Given the description of an element on the screen output the (x, y) to click on. 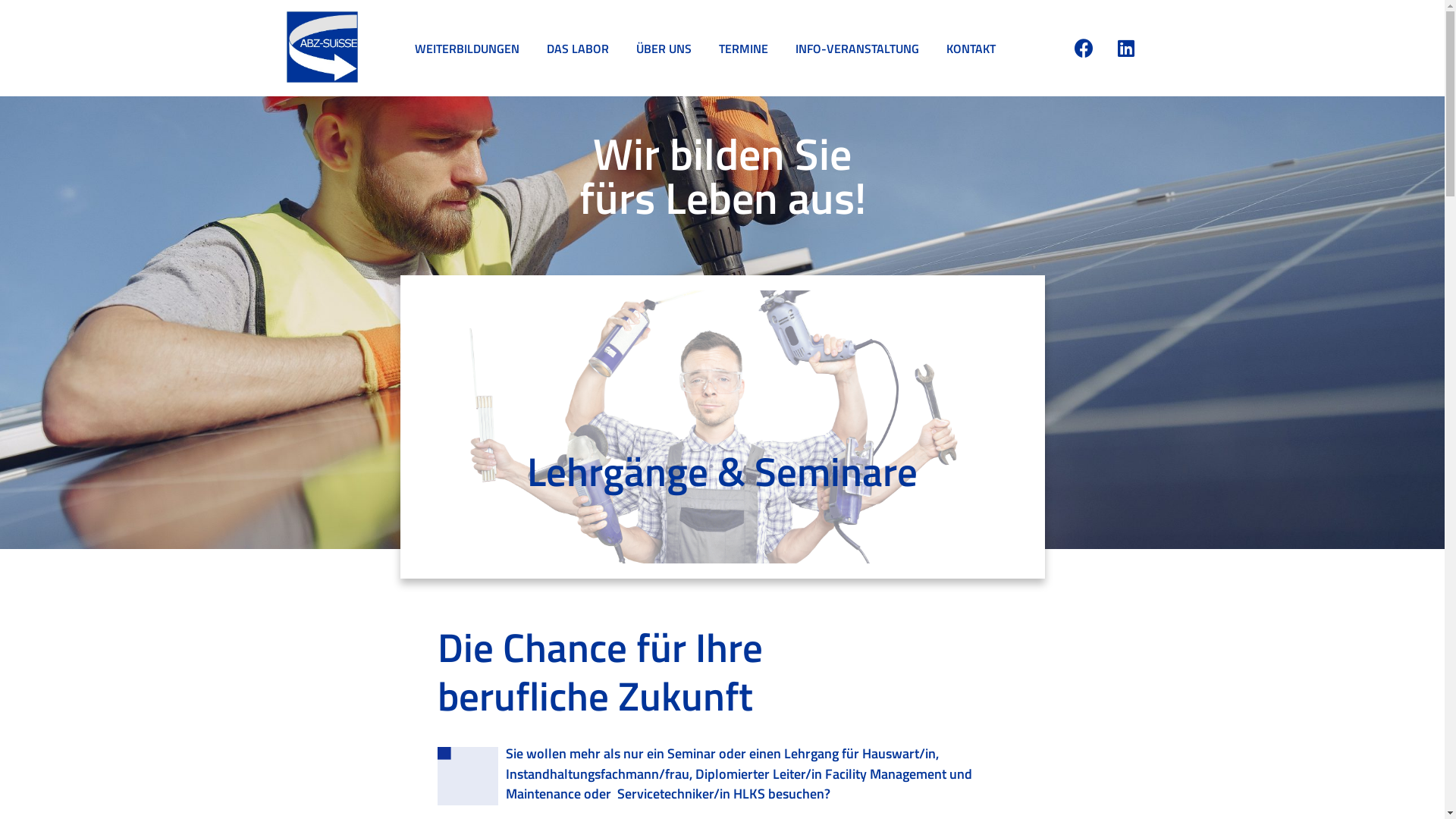
DAS LABOR Element type: text (577, 48)
WEITERBILDUNGEN Element type: text (467, 48)
TERMINE Element type: text (743, 48)
KONTAKT Element type: text (970, 48)
INFO-VERANSTALTUNG Element type: text (856, 48)
